Given the description of an element on the screen output the (x, y) to click on. 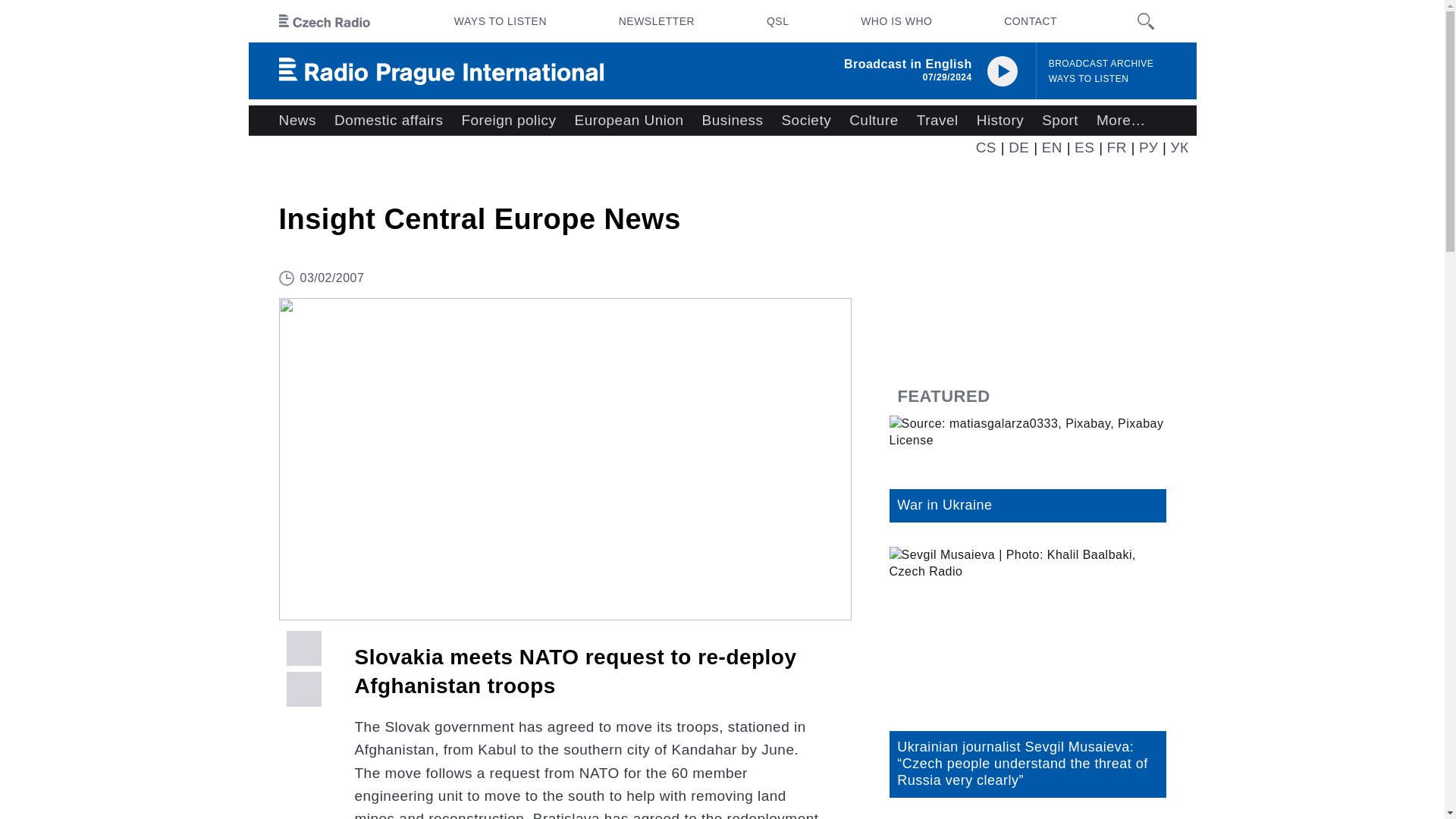
Society (805, 120)
DE (1019, 147)
NEWSLETTER (656, 21)
WAYS TO LISTEN (1088, 78)
Culture (873, 120)
Broadcast in English  (908, 63)
CONTACT (1029, 21)
ES (1084, 147)
Travel (937, 120)
European Union (628, 120)
Business (733, 120)
Czech Radio (324, 21)
Foreign policy (507, 120)
Sport (1059, 120)
FR (1116, 147)
